Given the description of an element on the screen output the (x, y) to click on. 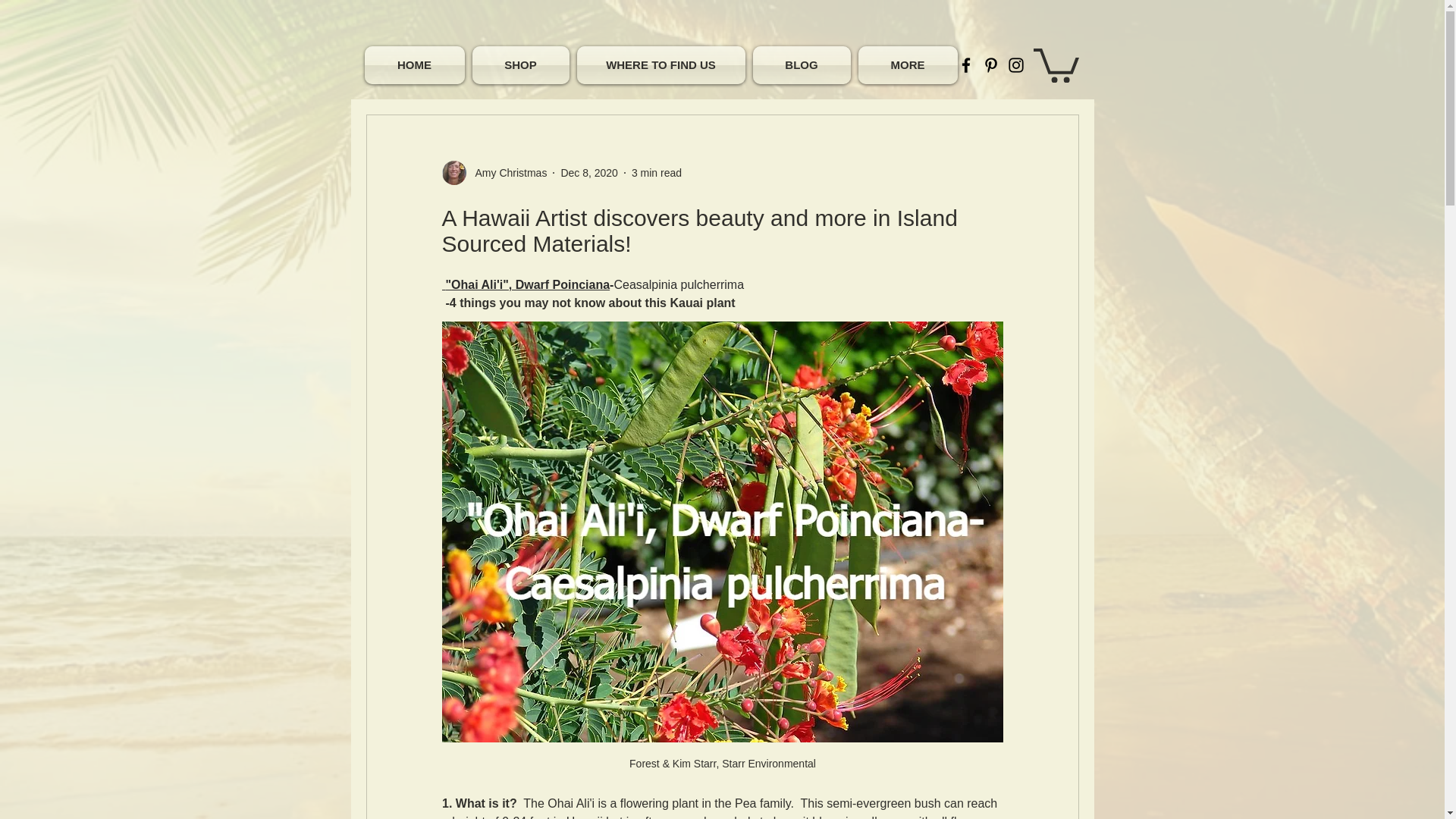
HOME (415, 64)
BLOG (801, 64)
3 min read (656, 173)
WHERE TO FIND US (661, 64)
Dec 8, 2020 (588, 173)
SHOP (520, 64)
Amy Christmas (506, 172)
